Given the description of an element on the screen output the (x, y) to click on. 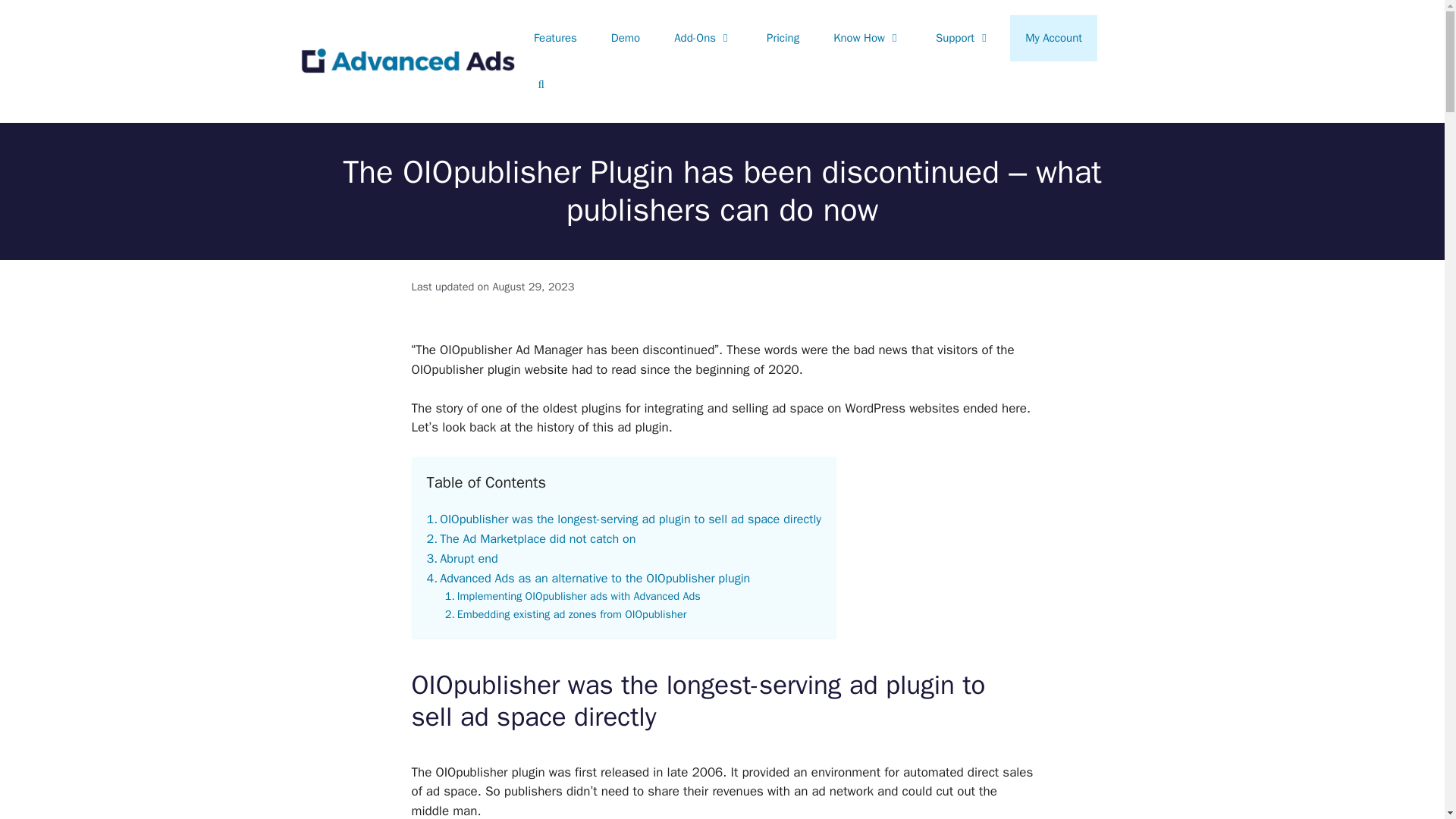
Advanced Ads as an alternative to the OIOpublisher plugin (587, 578)
Implementing OIOpublisher ads with Advanced Ads (572, 596)
Embedding existing ad zones from OIOpublisher  (567, 614)
The Ad Marketplace did not catch on (530, 538)
Advanced Ads as an alternative to the OIOpublisher plugin (587, 578)
Add-Ons (703, 38)
Demo (625, 38)
The Ad Marketplace did not catch on (530, 538)
Know How (867, 38)
Support (963, 38)
Abrupt end (461, 558)
Abrupt end (461, 558)
